Given the description of an element on the screen output the (x, y) to click on. 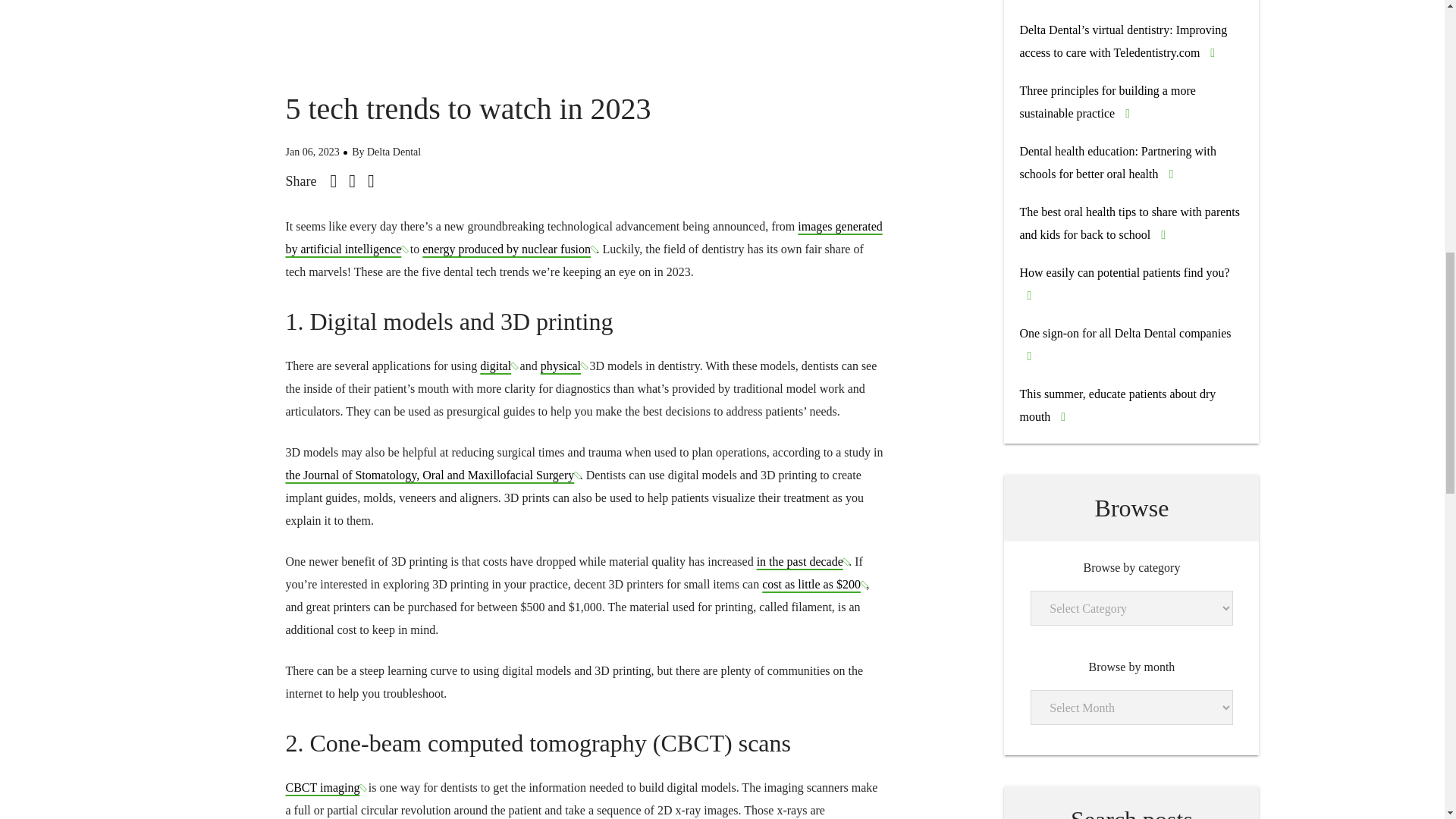
CBCT imaging (325, 787)
Opens external link in new window (583, 237)
digital (498, 365)
One sign-on for all Delta Dental companies (1124, 332)
energy produced by nuclear fusion (508, 248)
physical (563, 365)
the Journal of Stomatology, Oral and Maxillofacial Surgery (432, 474)
images generated by artificial intelligence (583, 237)
Three principles for building a more sustainable practice (1107, 101)
